Given the description of an element on the screen output the (x, y) to click on. 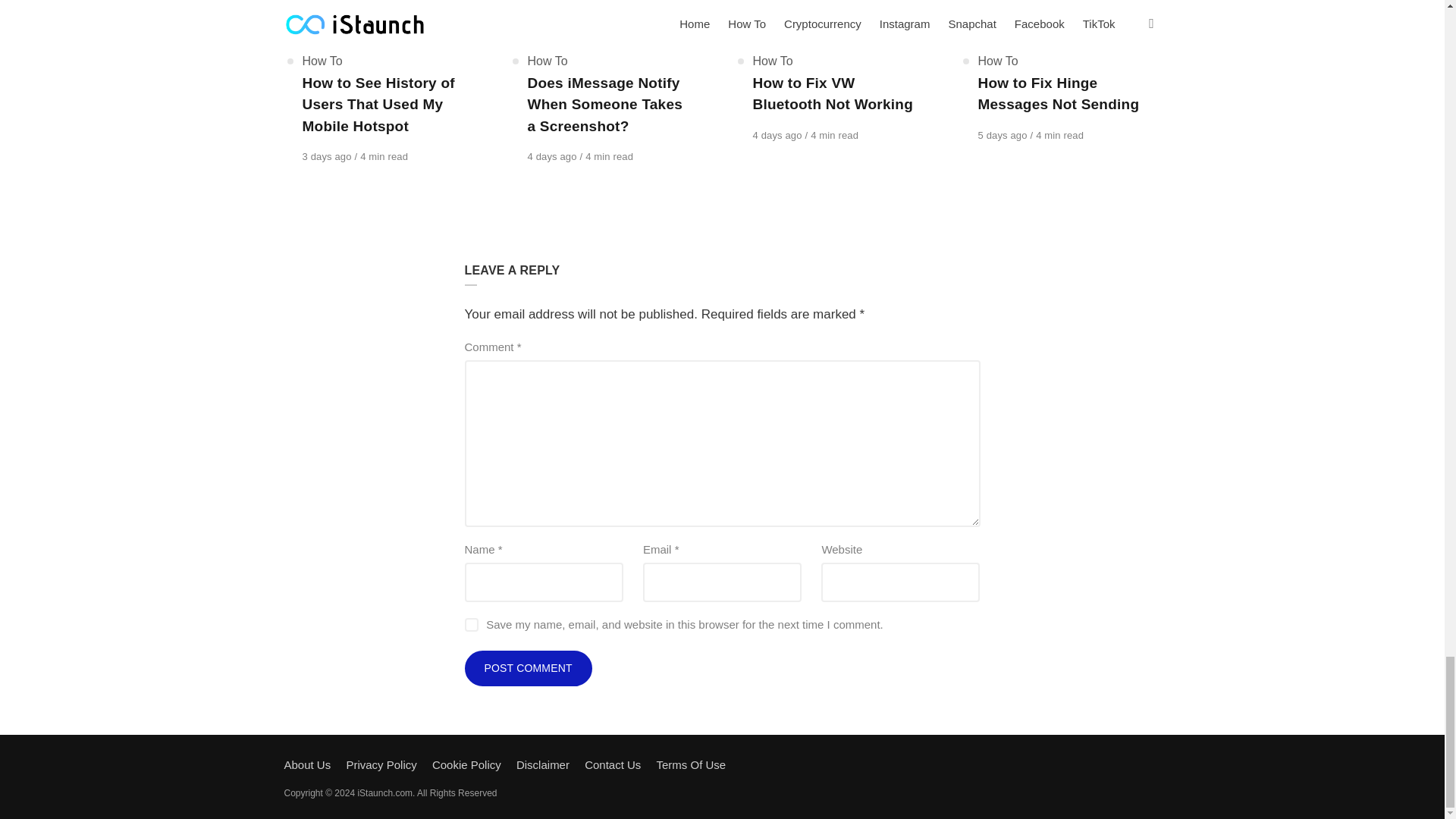
Post Comment (527, 668)
August 29, 2024 (553, 156)
yes (470, 624)
August 29, 2024 (778, 134)
August 28, 2024 (1004, 134)
August 30, 2024 (327, 156)
